Given the description of an element on the screen output the (x, y) to click on. 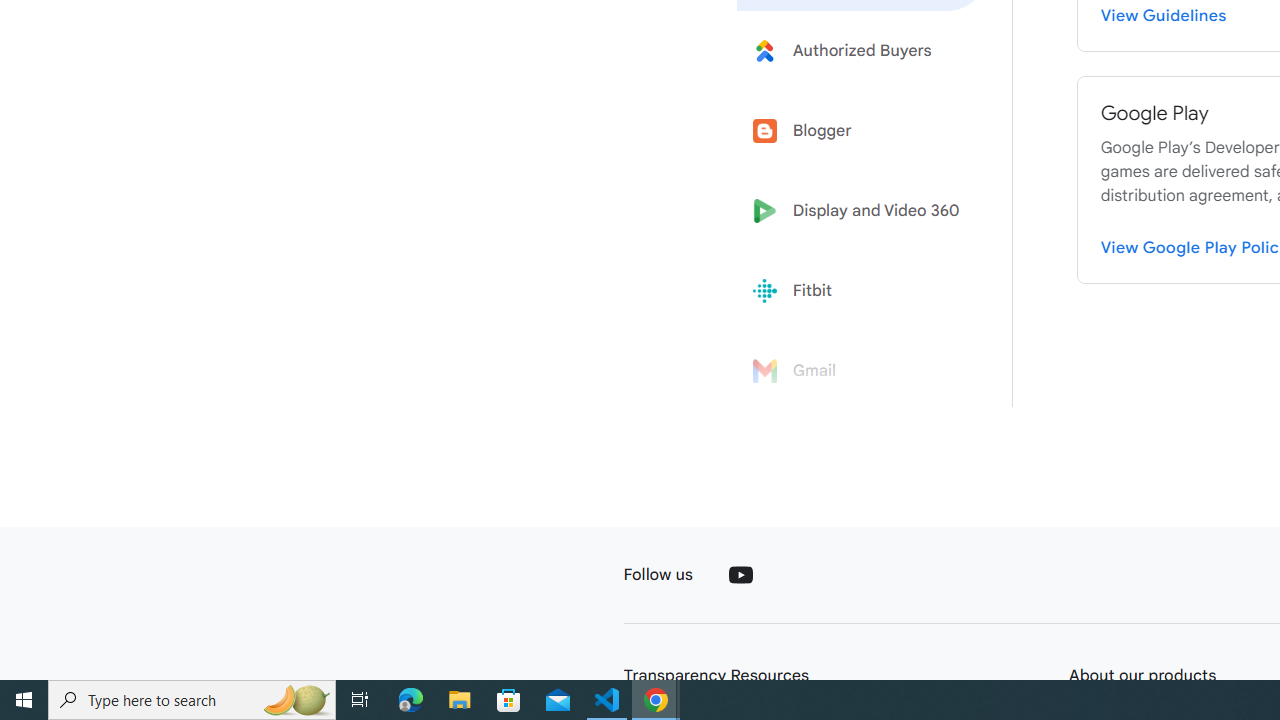
Blogger (862, 130)
Fitbit (862, 291)
Display and Video 360 (862, 211)
Gmail (862, 371)
Blogger (862, 130)
Learn more about Authorized Buyers (862, 50)
Display and Video 360 (862, 211)
Gmail (862, 371)
YouTube (740, 574)
Learn more about Authorized Buyers (862, 50)
Fitbit (862, 291)
